Given the description of an element on the screen output the (x, y) to click on. 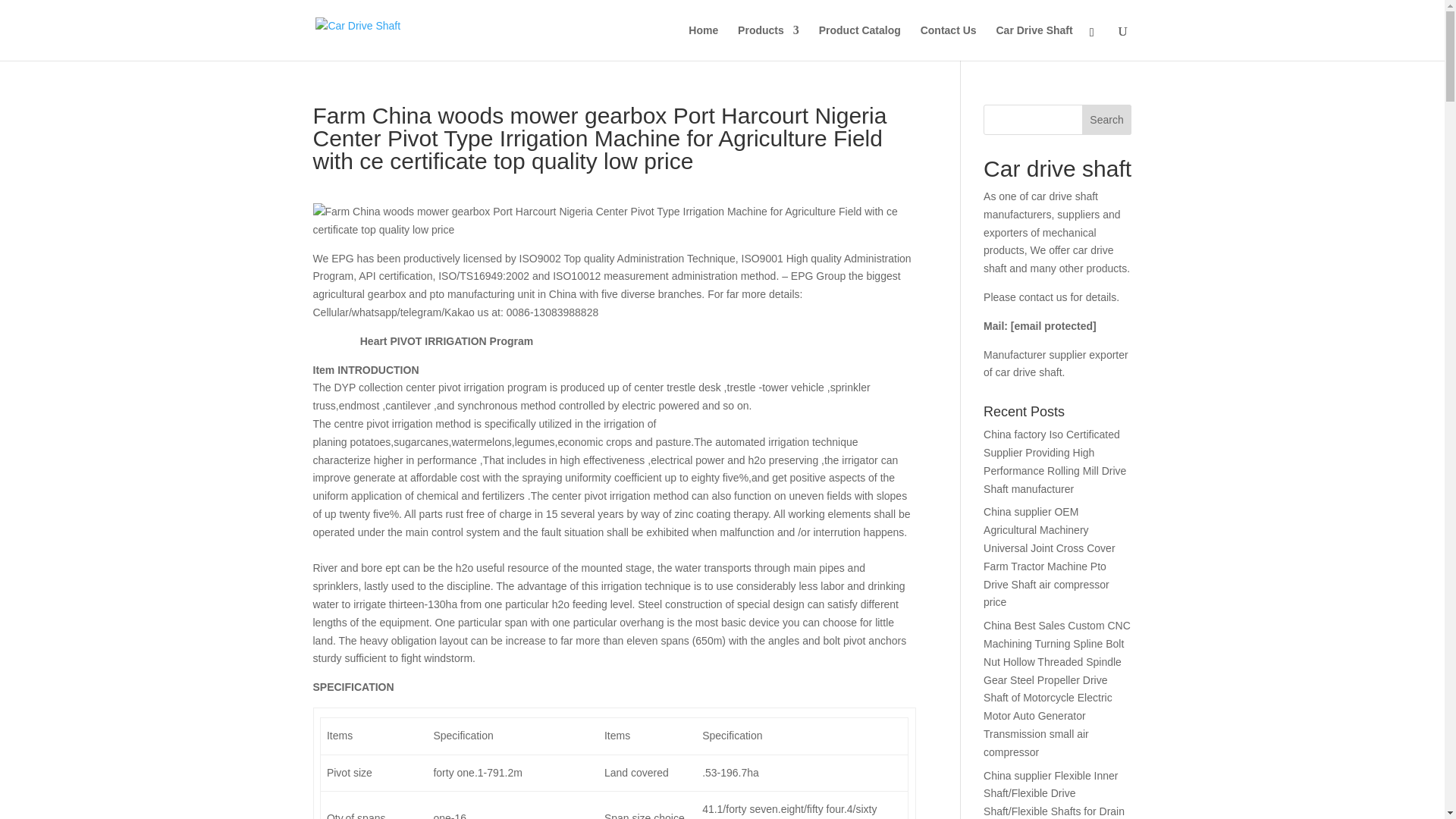
Contact Us (948, 42)
Search (1106, 119)
Products (768, 42)
Car Drive Shaft (1034, 42)
Product Catalog (859, 42)
Search (1106, 119)
Home (702, 42)
